Given the description of an element on the screen output the (x, y) to click on. 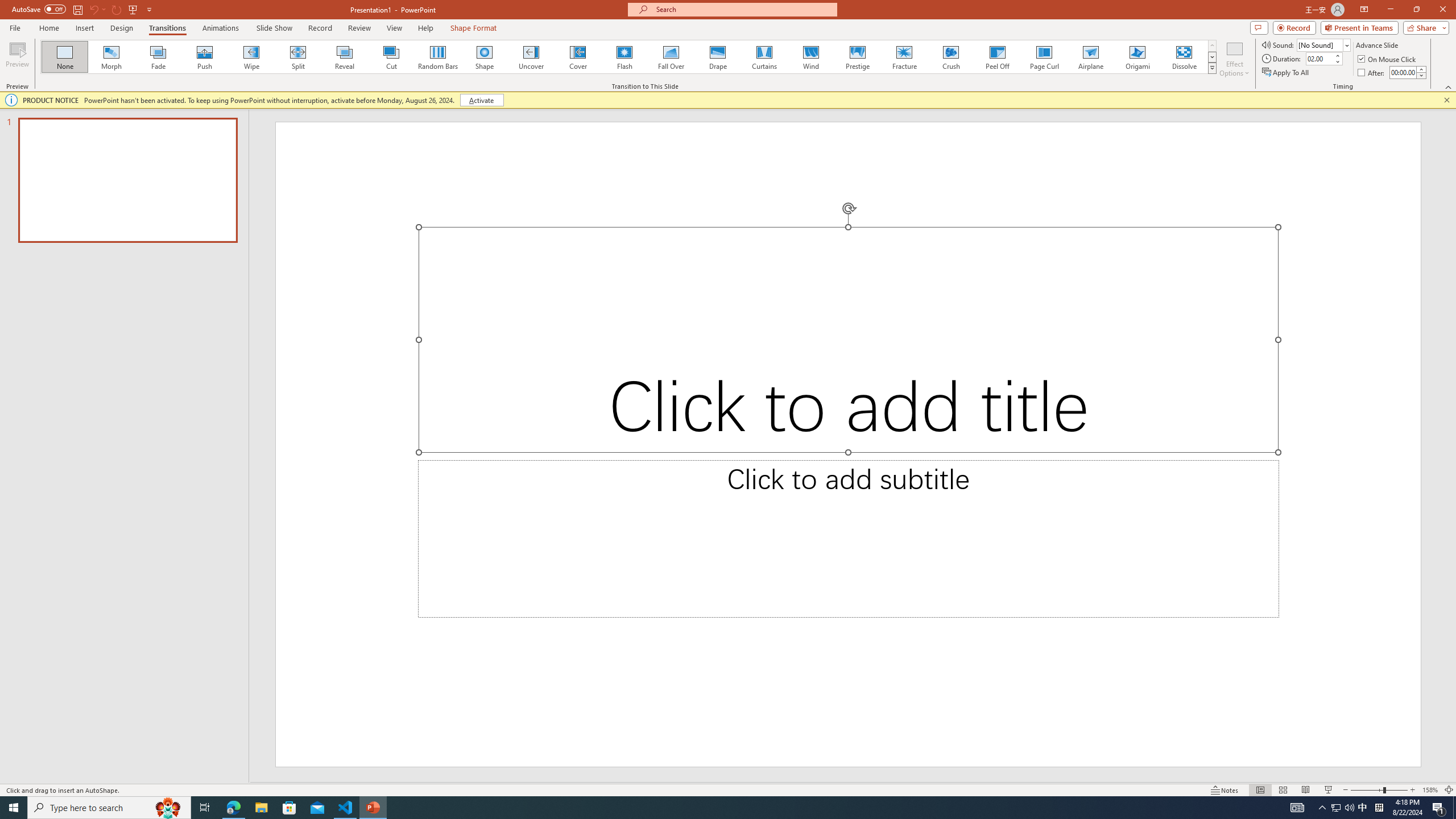
Effect Options (1234, 58)
Sound (1324, 44)
More (1420, 69)
Uncover (531, 56)
Airplane (1090, 56)
